Given the description of an element on the screen output the (x, y) to click on. 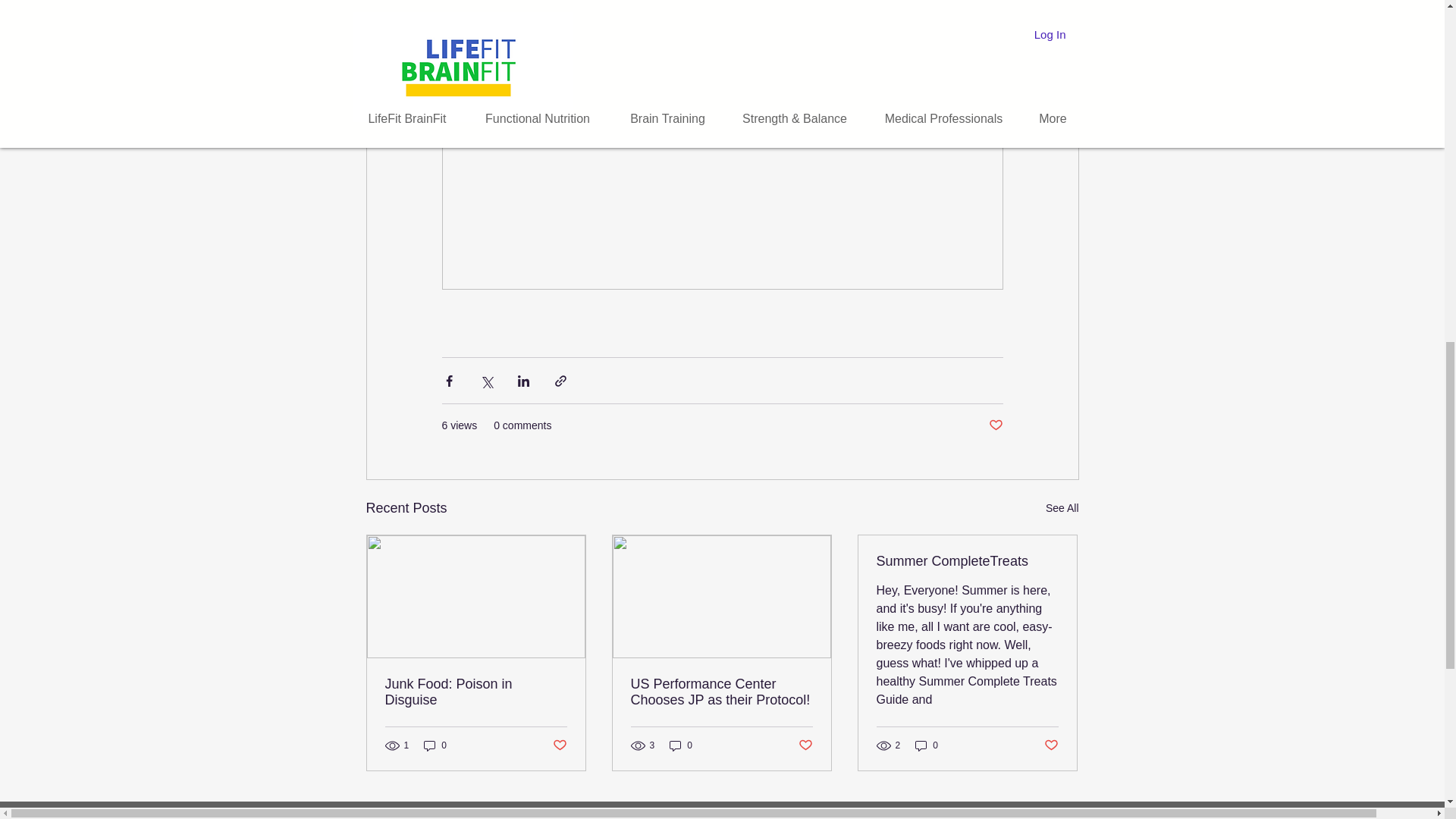
Post not marked as liked (804, 745)
Junk Food: Poison in Disguise (476, 692)
0 (435, 745)
US Performance Center Chooses JP as their Protocol! (721, 692)
0 (681, 745)
Post not marked as liked (558, 745)
Summer CompleteTreats (967, 561)
See All (1061, 508)
Post not marked as liked (995, 425)
